Given the description of an element on the screen output the (x, y) to click on. 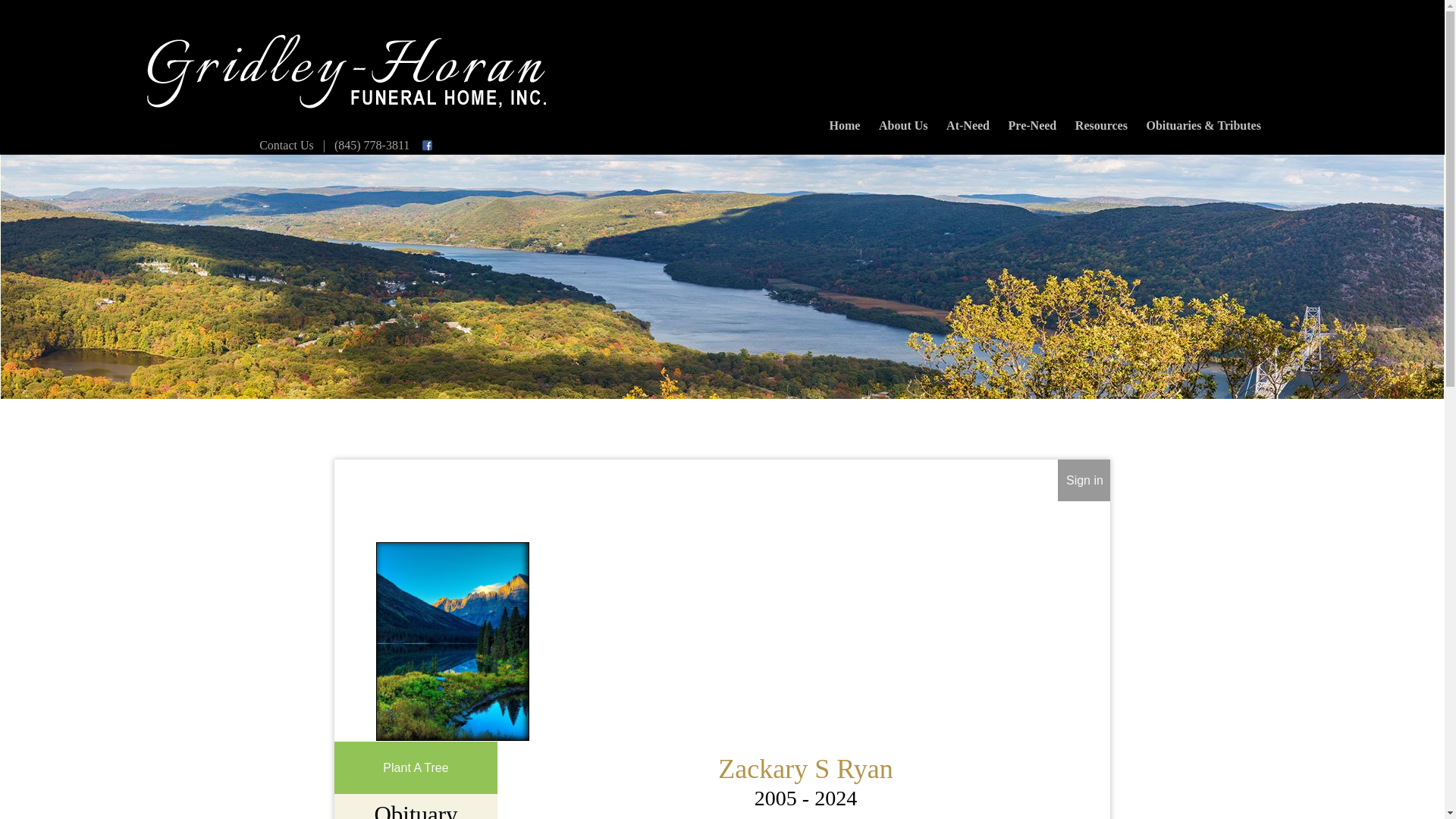
Contact Us (286, 144)
About Us (903, 121)
Pre-Need (1031, 121)
Sign in (1084, 480)
Home (844, 121)
Obituary (415, 810)
Plant A Tree (415, 767)
Resources (1101, 121)
Plant A Tree (415, 767)
At-Need (967, 121)
